Given the description of an element on the screen output the (x, y) to click on. 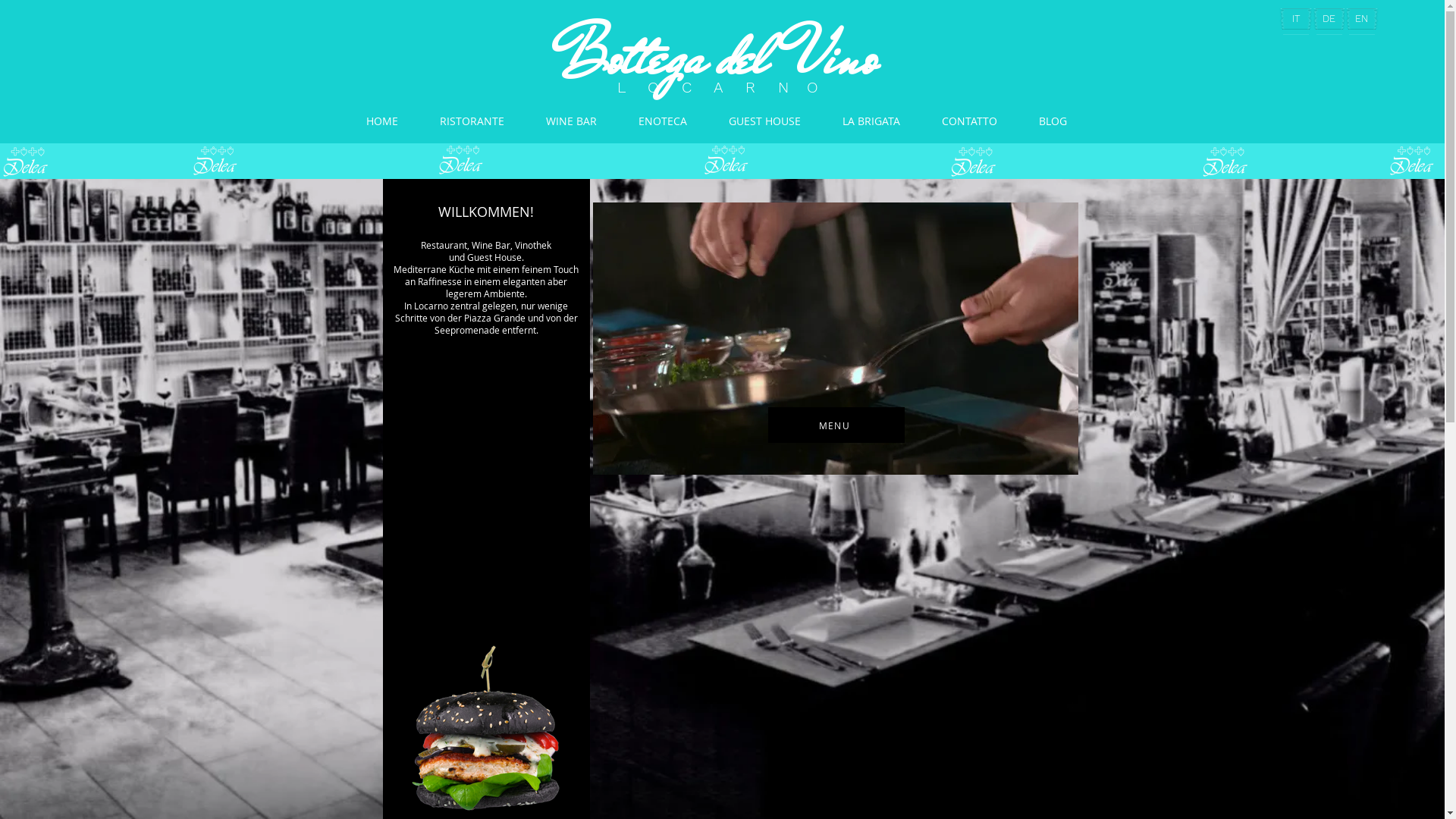
RISTORANTE Element type: text (471, 121)
ENOTECA Element type: text (662, 121)
GUEST HOUSE Element type: text (765, 121)
MENU Element type: text (835, 424)
BLOG Element type: text (1052, 121)
LA BRIGATA Element type: text (871, 121)
DE Element type: text (1328, 18)
EN Element type: text (1361, 18)
Bottega del Vino Element type: text (716, 57)
IT Element type: text (1294, 18)
CONTATTO Element type: text (968, 121)
WINE BAR Element type: text (570, 121)
HOME Element type: text (381, 121)
L     O     C     A     R     N    O Element type: text (717, 87)
Accedi Element type: text (1045, 50)
